Given the description of an element on the screen output the (x, y) to click on. 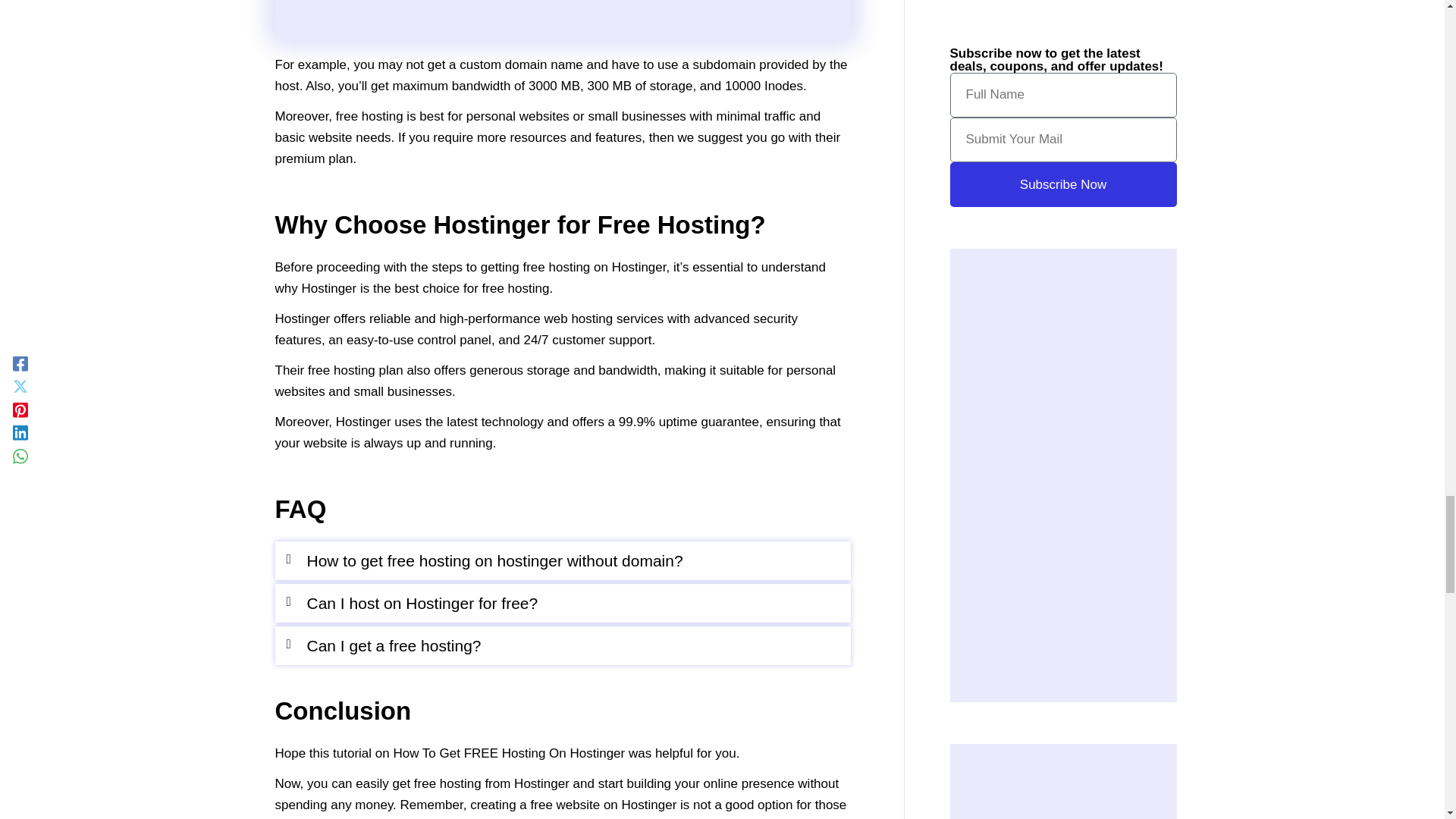
Can I host on Hostinger for free? (421, 602)
How to get free hosting on hostinger without domain? (493, 560)
How To Get FREE Hosting On Hostinger (562, 19)
Can I get a free hosting? (392, 645)
